Given the description of an element on the screen output the (x, y) to click on. 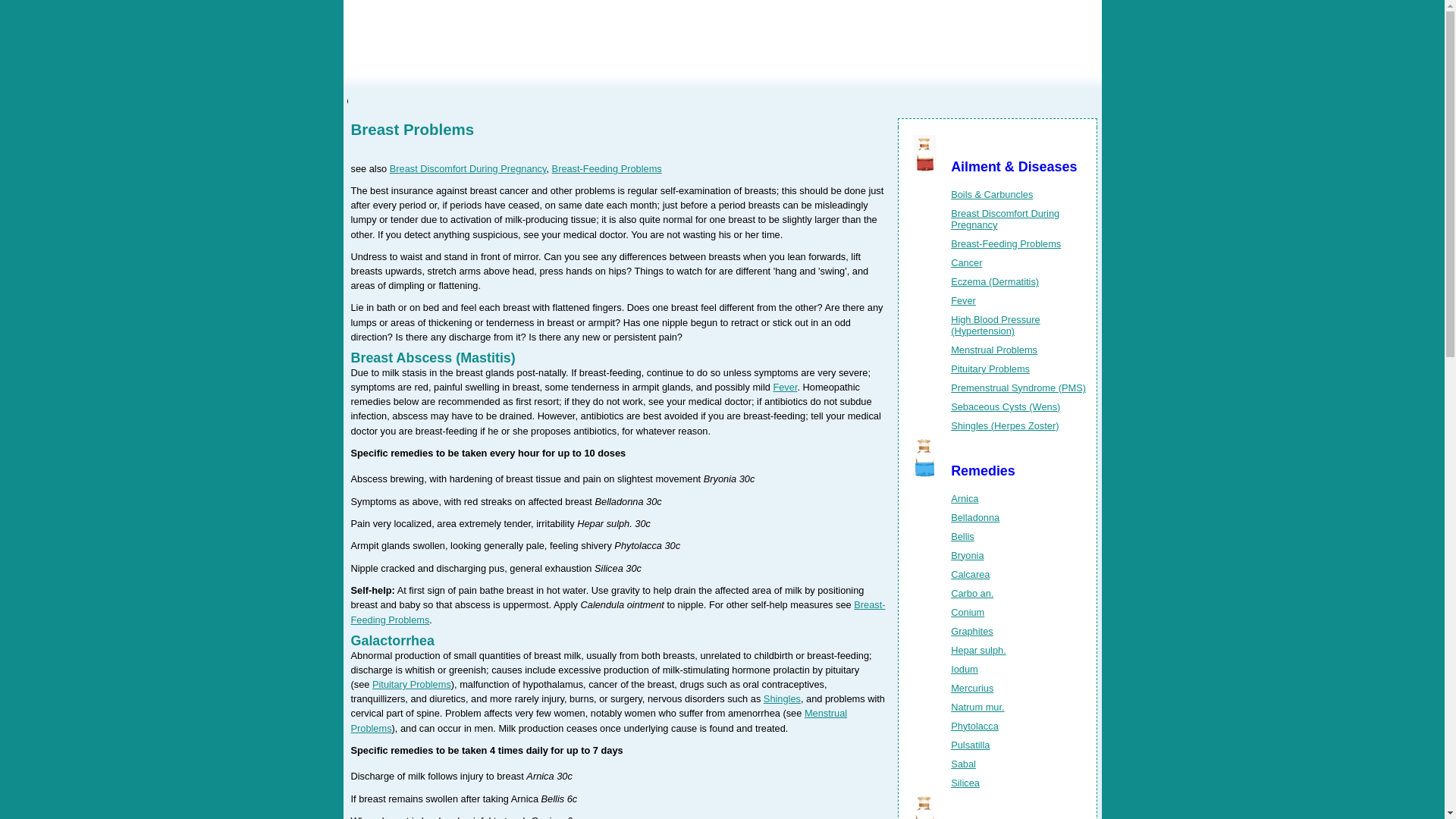
Internal weblink to Belladonna   (974, 517)
Internal weblink to Menstrual Problems (993, 349)
Pituitary Problems (989, 368)
Fever (784, 387)
Carbo an. (971, 593)
Remedies (982, 470)
Internal weblink to Bellis (962, 536)
Calcarea (970, 573)
Breast Discomfort During Pregnancy (468, 168)
Internal weblink to Fever (962, 300)
